Given the description of an element on the screen output the (x, y) to click on. 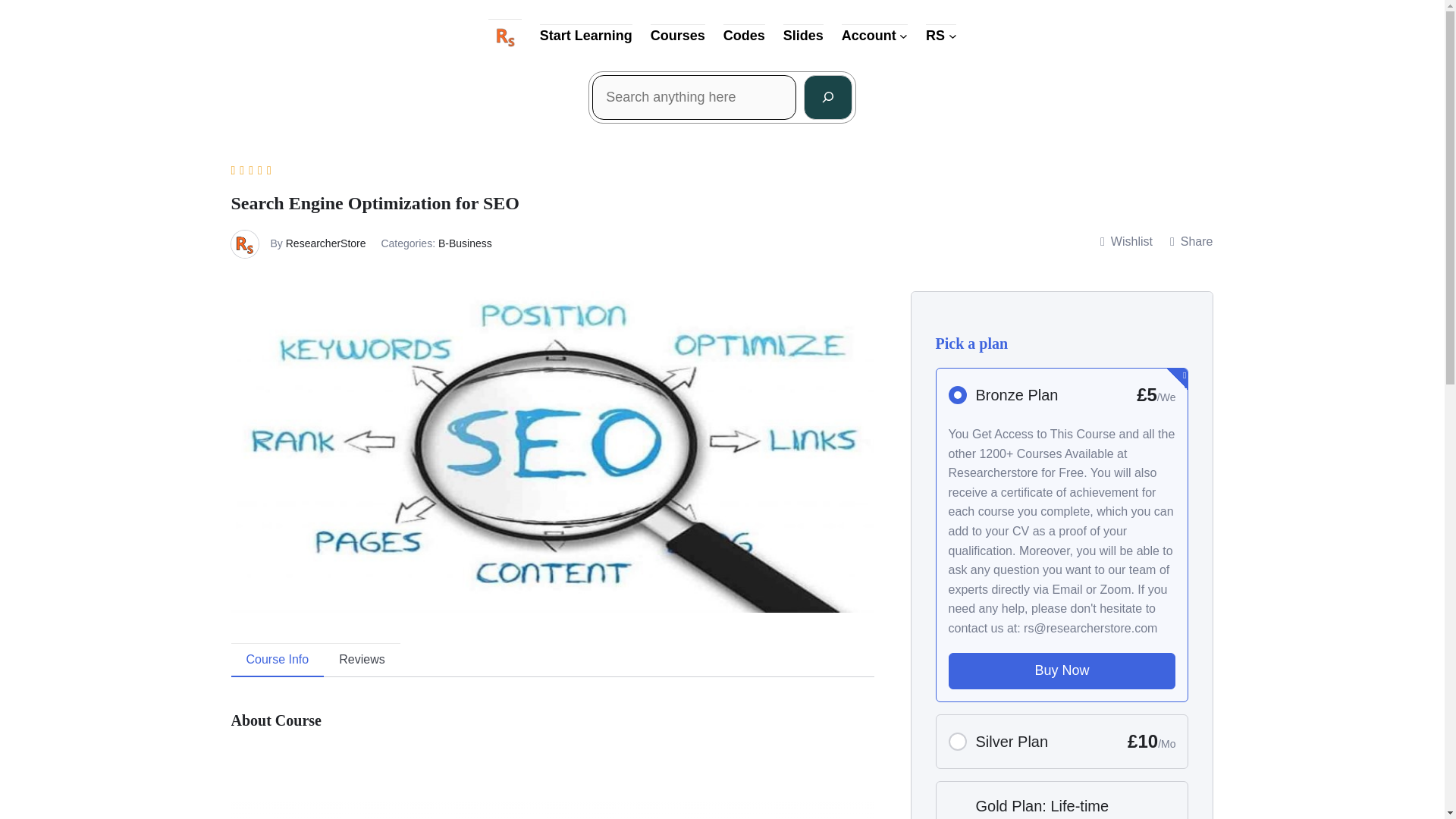
ResearcherStore (325, 243)
Search Engine Optimization for SEO (420, 781)
Courses (677, 35)
Account (868, 35)
Share (1191, 241)
Codes (744, 35)
Wishlist (1126, 241)
B-Business (465, 243)
Start Learning (585, 35)
Slides (803, 35)
